Given the description of an element on the screen output the (x, y) to click on. 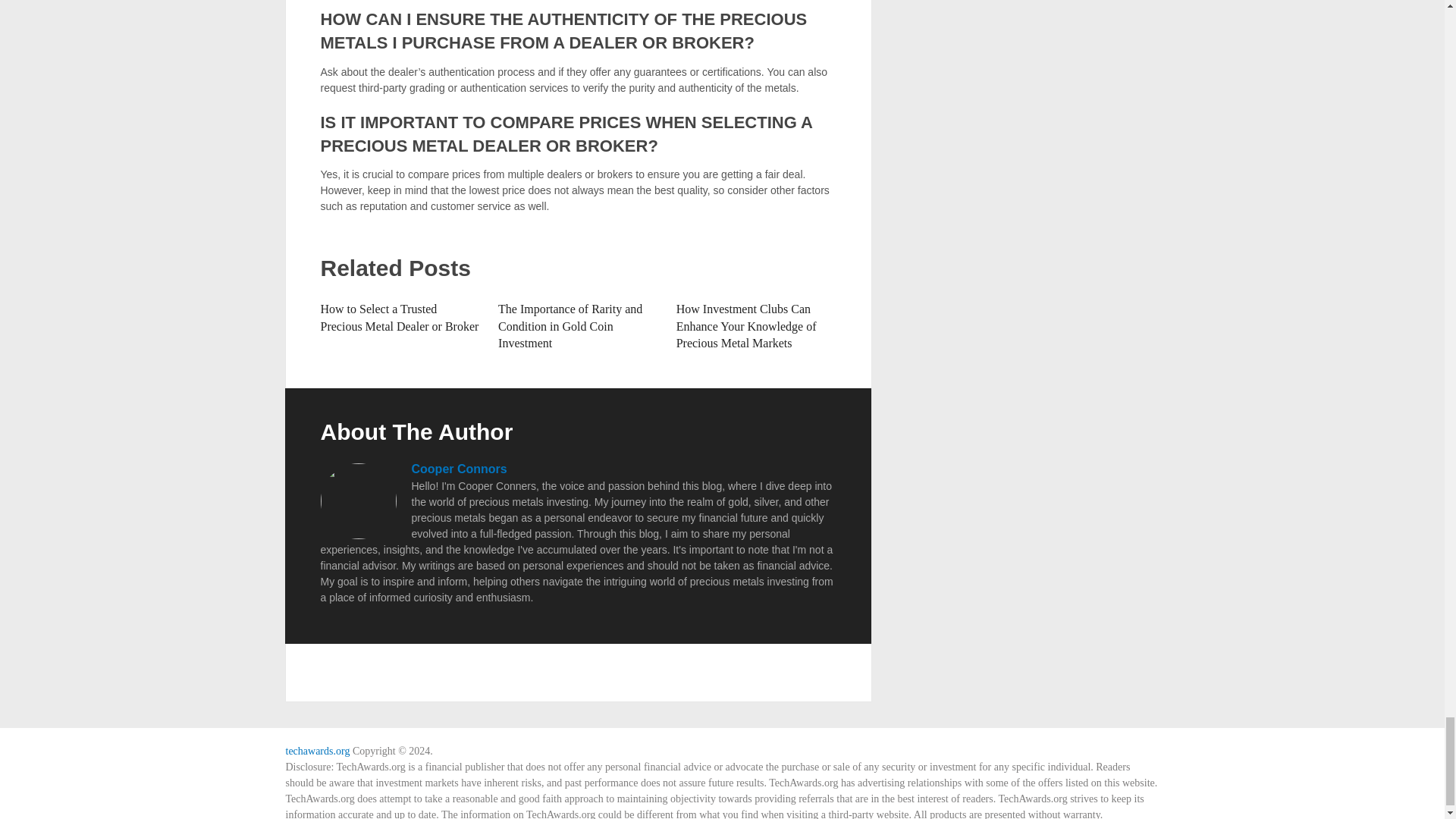
Cooper Connors (458, 468)
techawards.org (317, 750)
How to Select a Trusted Precious Metal Dealer or Broker (399, 317)
How to Select a Trusted Precious Metal Dealer or Broker (399, 317)
